Given the description of an element on the screen output the (x, y) to click on. 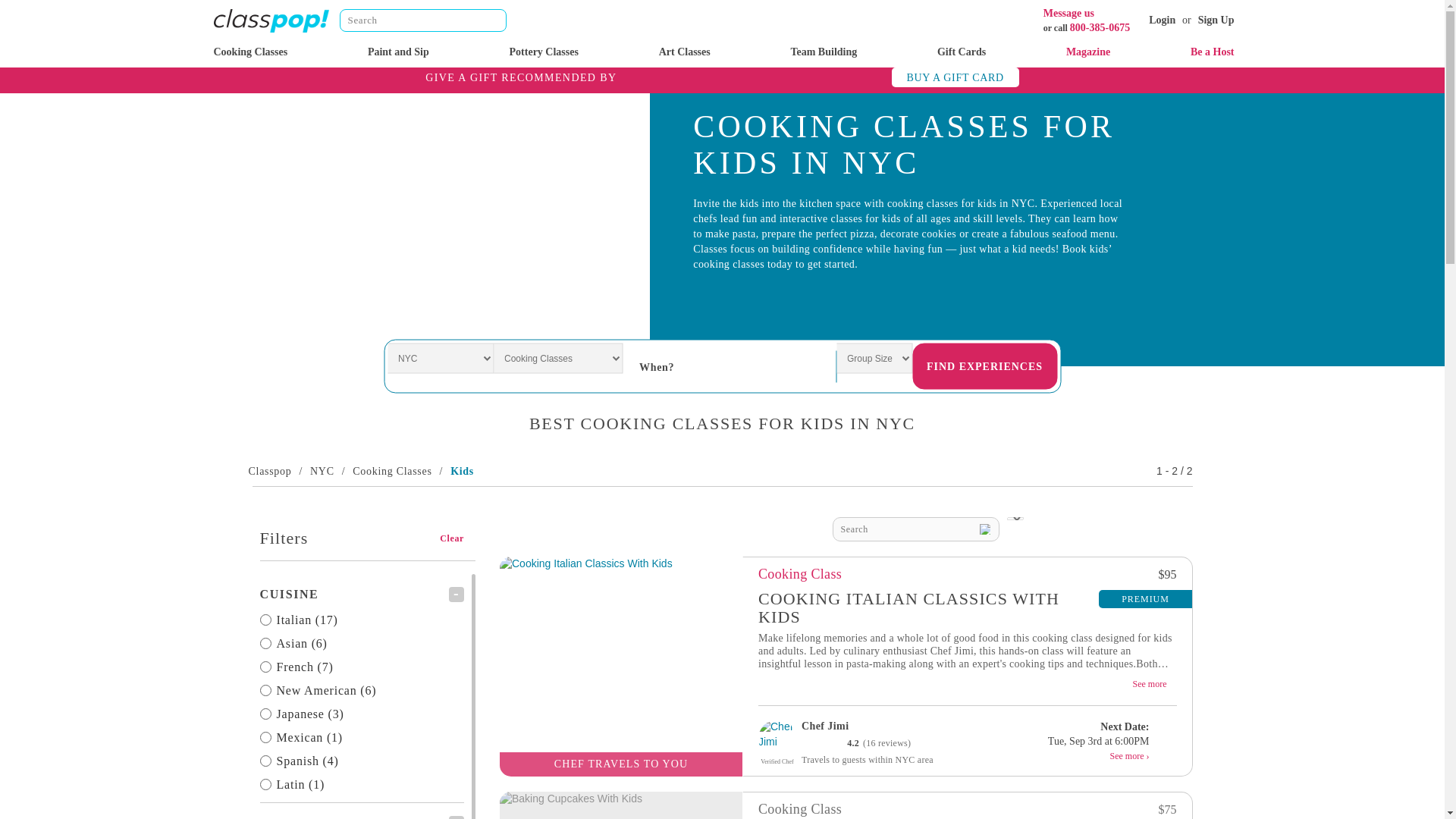
Message us (1068, 12)
Cuisine (361, 594)
Active classtype (361, 817)
Sign Up (1216, 19)
800-385-0675 (1099, 27)
Cooking Classes (251, 51)
Login (1161, 19)
